Given the description of an element on the screen output the (x, y) to click on. 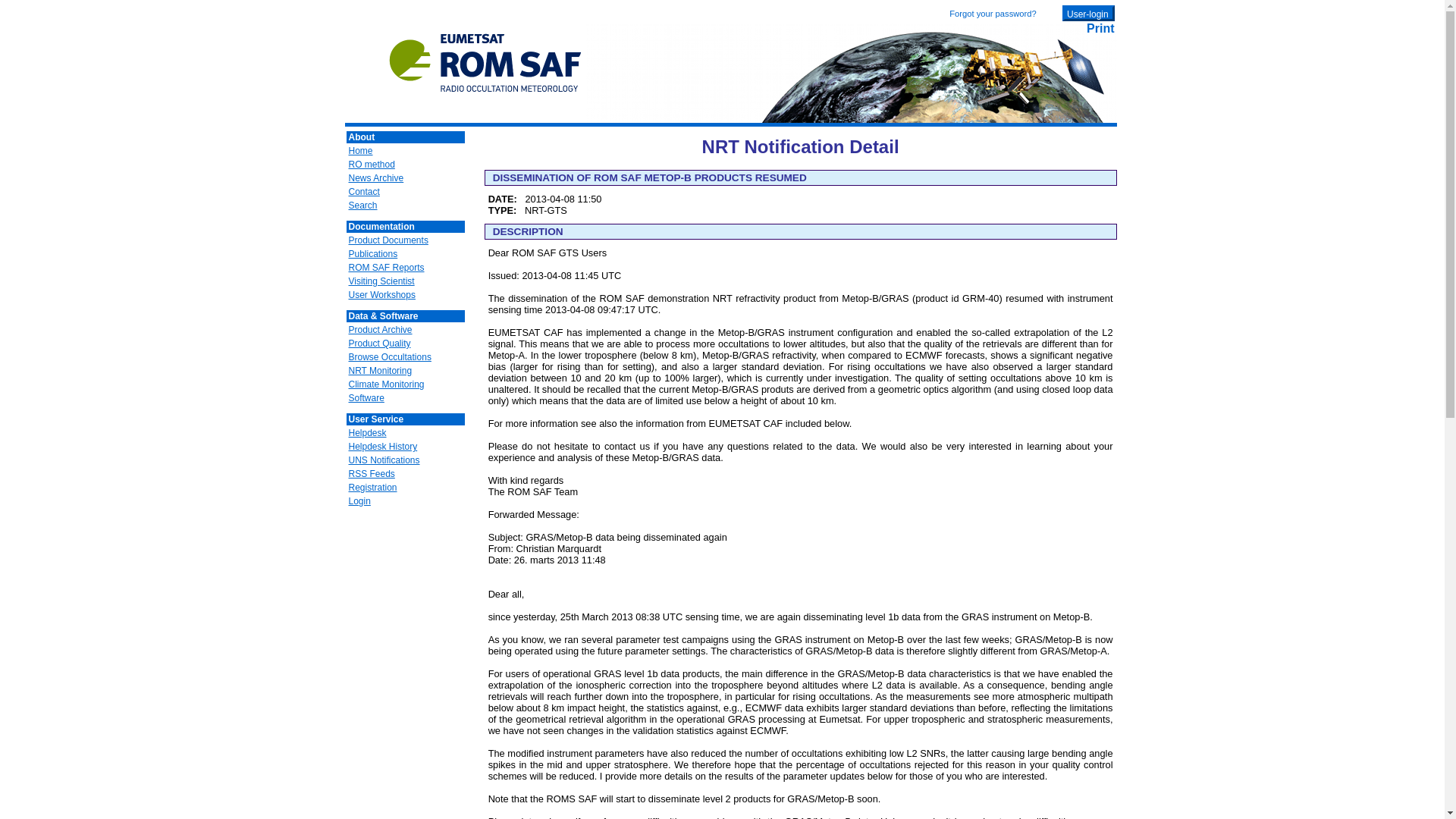
Home (359, 150)
Contact (363, 191)
Product Quality (378, 343)
Print (1099, 28)
RO method (370, 163)
RSS Feeds (370, 473)
News Archive (375, 177)
Registration (372, 487)
Home (484, 99)
Forgot your password? (992, 13)
Search (362, 204)
Product Archive (379, 329)
Browse Occultations (388, 357)
Software (365, 398)
Helpdesk History (382, 446)
